Given the description of an element on the screen output the (x, y) to click on. 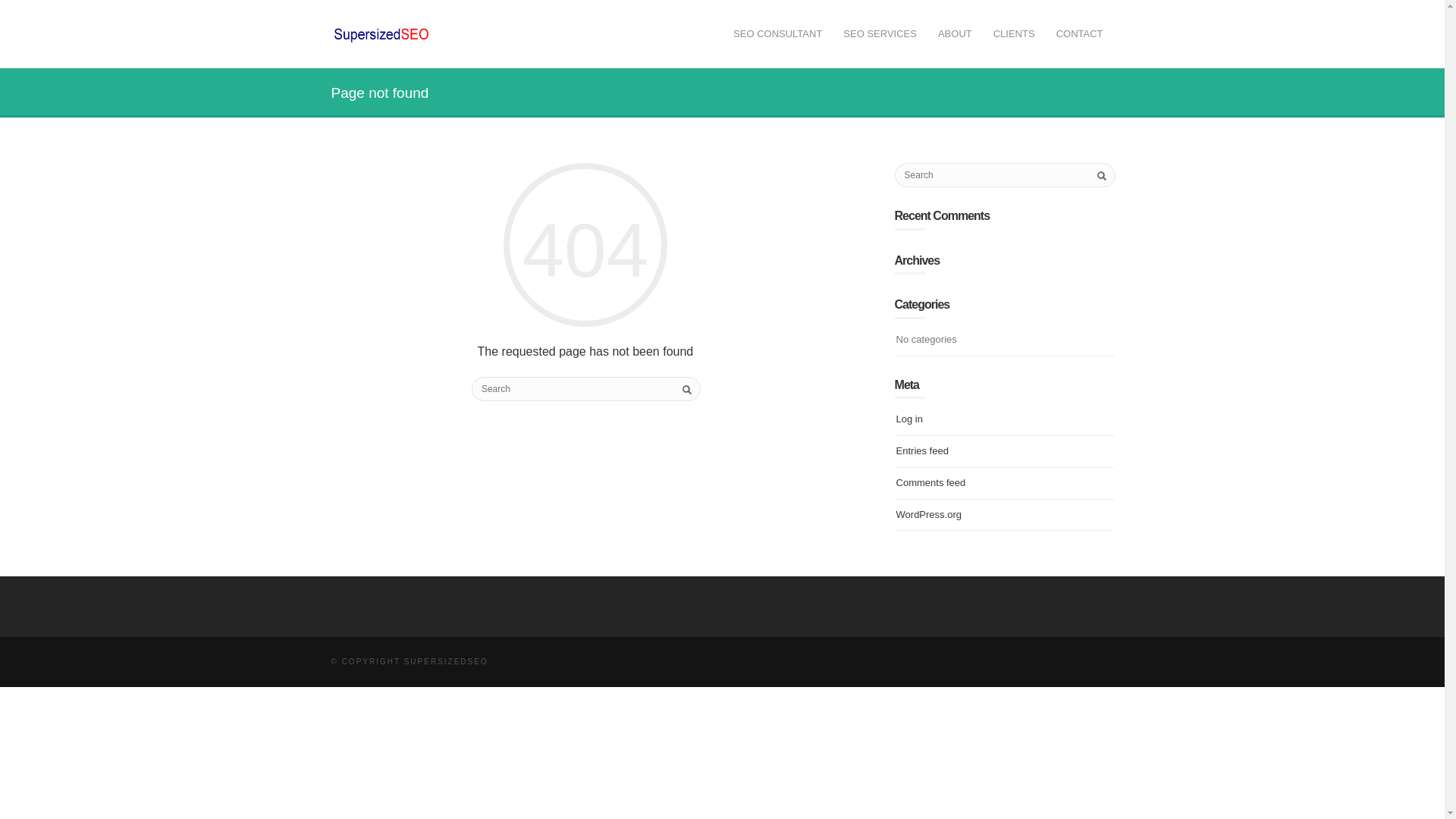
WordPress.org (928, 514)
CONTACT (1079, 34)
SEO SERVICES (879, 34)
Log in (909, 418)
CLIENTS (1013, 34)
Comments feed (931, 482)
ABOUT (954, 34)
SEO CONSULTANT (777, 34)
Entries feed (922, 450)
